Given the description of an element on the screen output the (x, y) to click on. 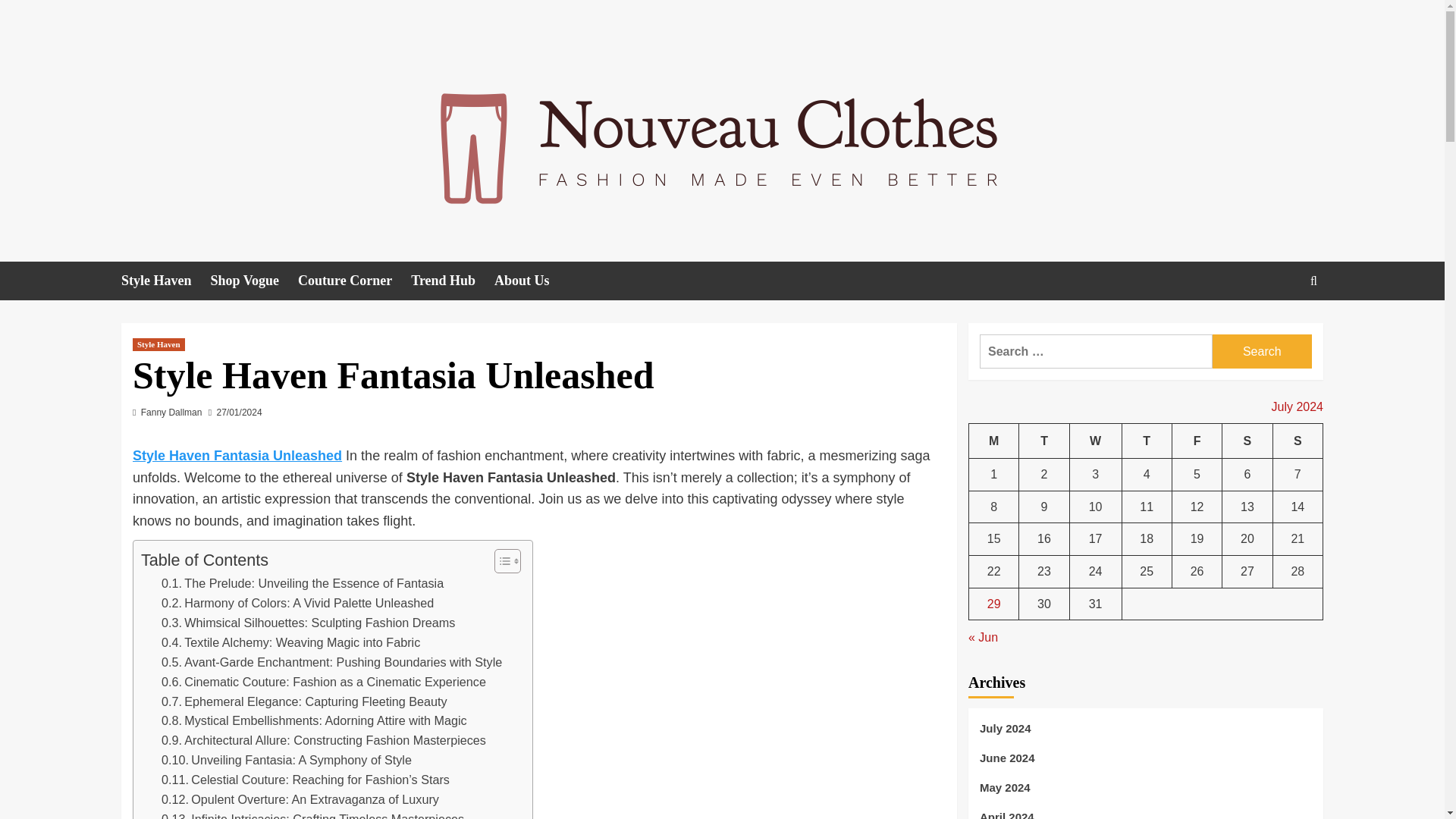
Harmony of Colors: A Vivid Palette Unleashed (297, 603)
Search (1261, 351)
Style Haven (158, 344)
Architectural Allure: Constructing Fashion Masterpieces (323, 741)
Infinite Intricacies: Crafting Timeless Masterpieces (312, 814)
Unveiling Fantasia: A Symphony of Style (286, 760)
Architectural Allure: Constructing Fashion Masterpieces (323, 741)
Opulent Overture: An Extravaganza of Luxury (300, 799)
Infinite Intricacies: Crafting Timeless Masterpieces (312, 814)
Shop Vogue (254, 280)
Opulent Overture: An Extravaganza of Luxury (300, 799)
Whimsical Silhouettes: Sculpting Fashion Dreams (307, 623)
Textile Alchemy: Weaving Magic into Fabric (290, 642)
The Prelude: Unveiling the Essence of Fantasia (302, 583)
The Prelude: Unveiling the Essence of Fantasia (302, 583)
